Given the description of an element on the screen output the (x, y) to click on. 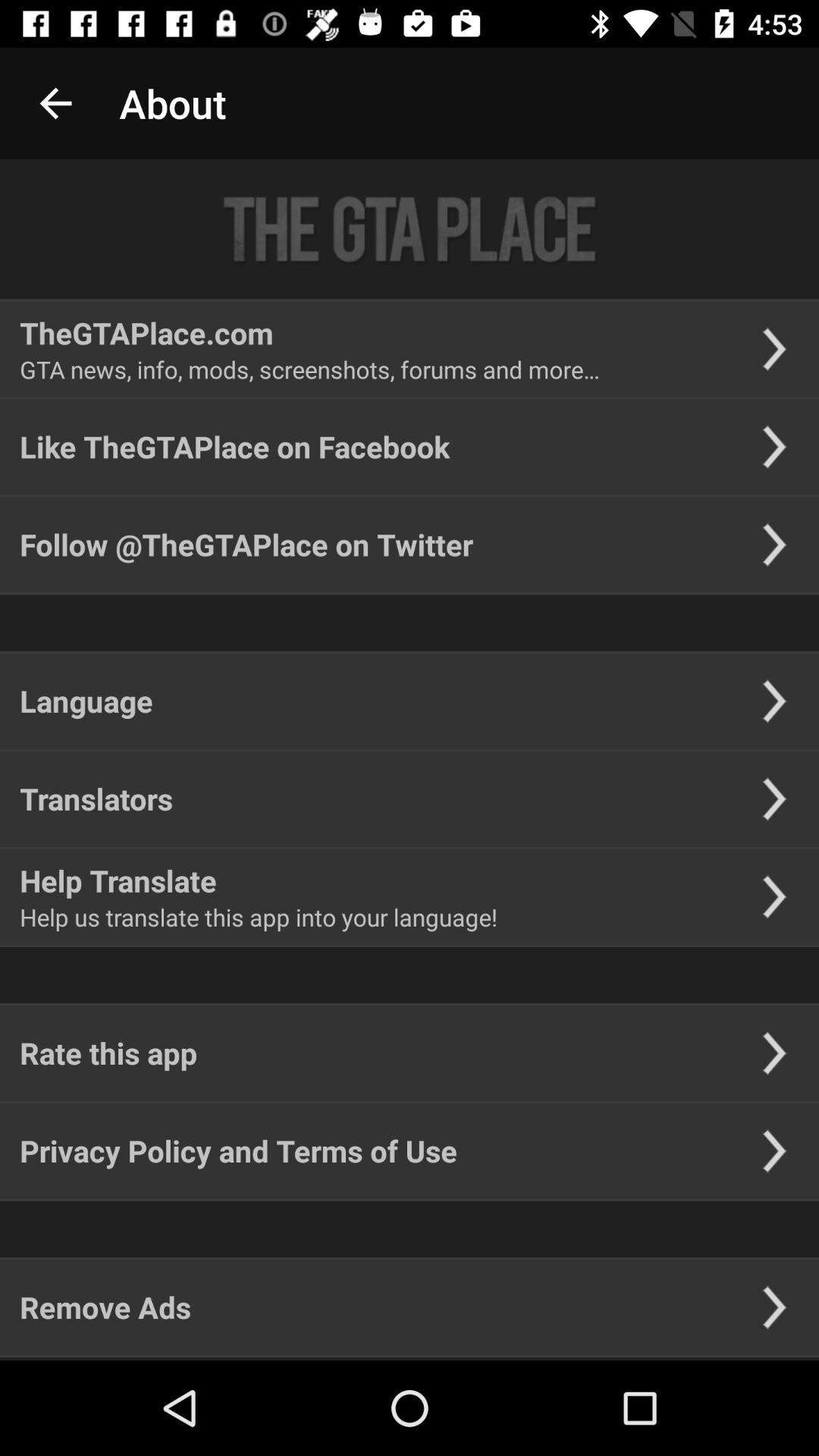
scroll until the translators (95, 798)
